Given the description of an element on the screen output the (x, y) to click on. 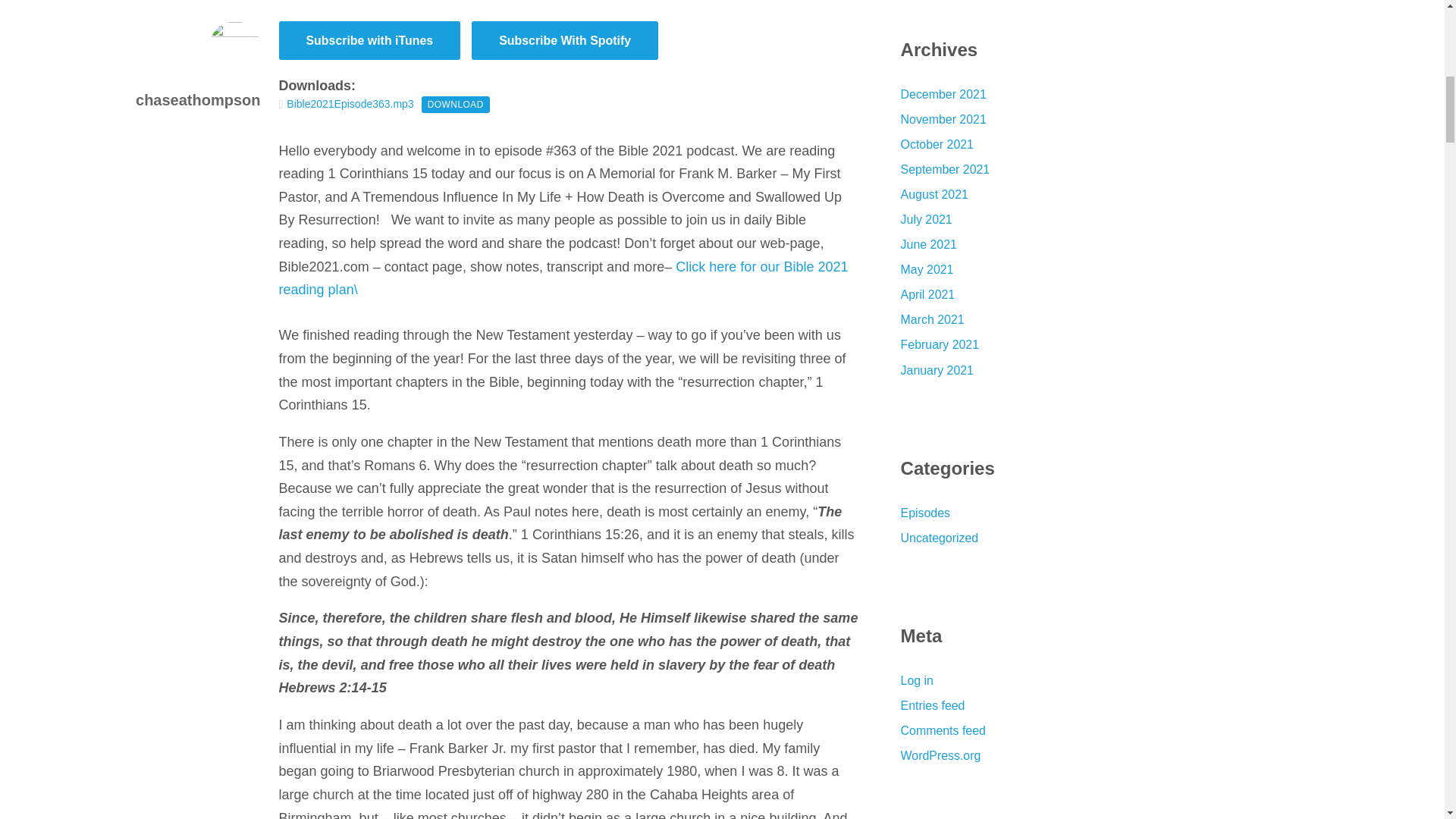
Bible2021Episode363.mp3 (349, 104)
DOWNLOAD (455, 104)
Subscribe With Spotify (564, 40)
Subscribe with iTunes (370, 40)
